Given the description of an element on the screen output the (x, y) to click on. 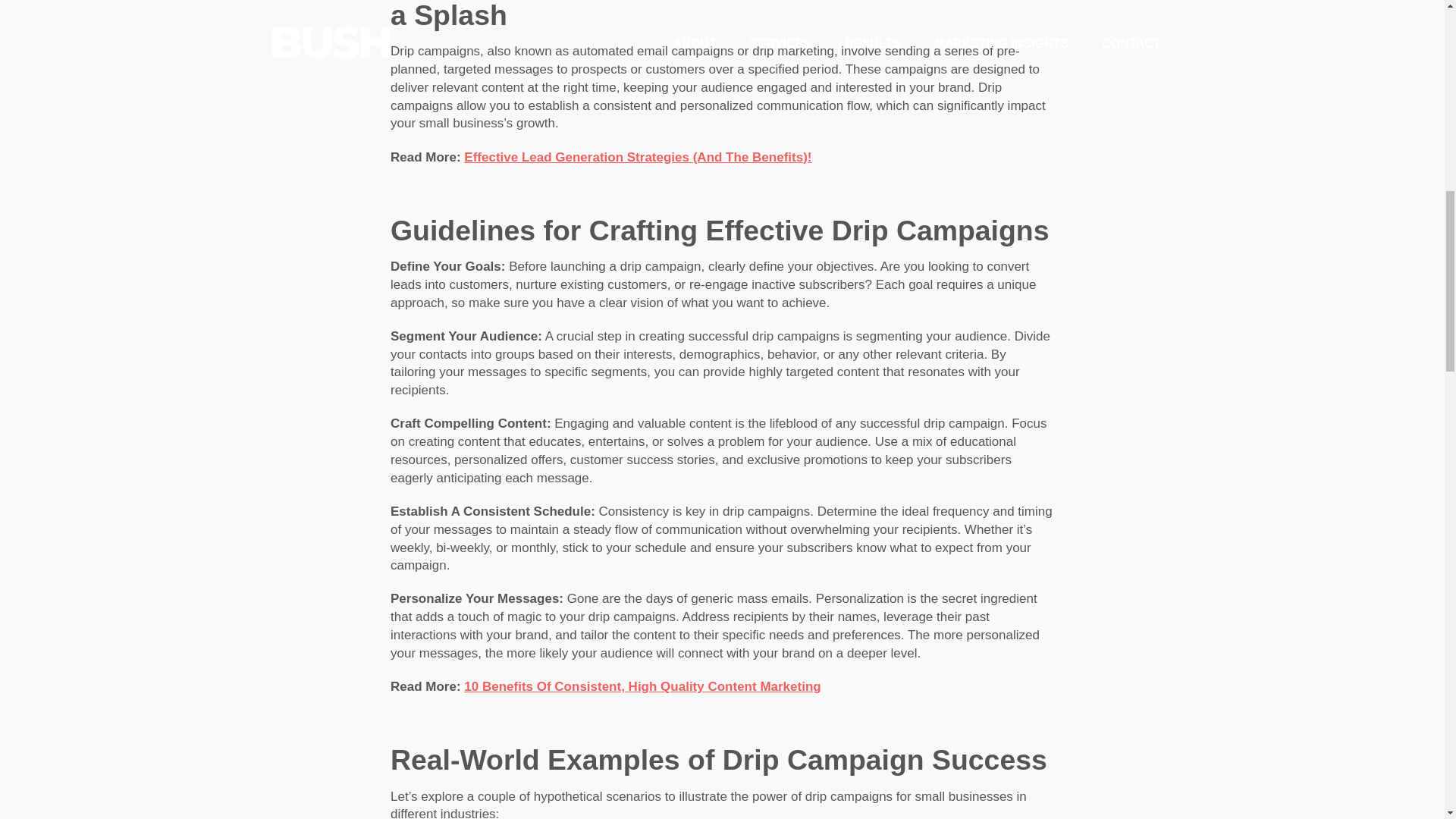
10 Benefits Of Consistent, High Quality Content Marketing (642, 686)
